Given the description of an element on the screen output the (x, y) to click on. 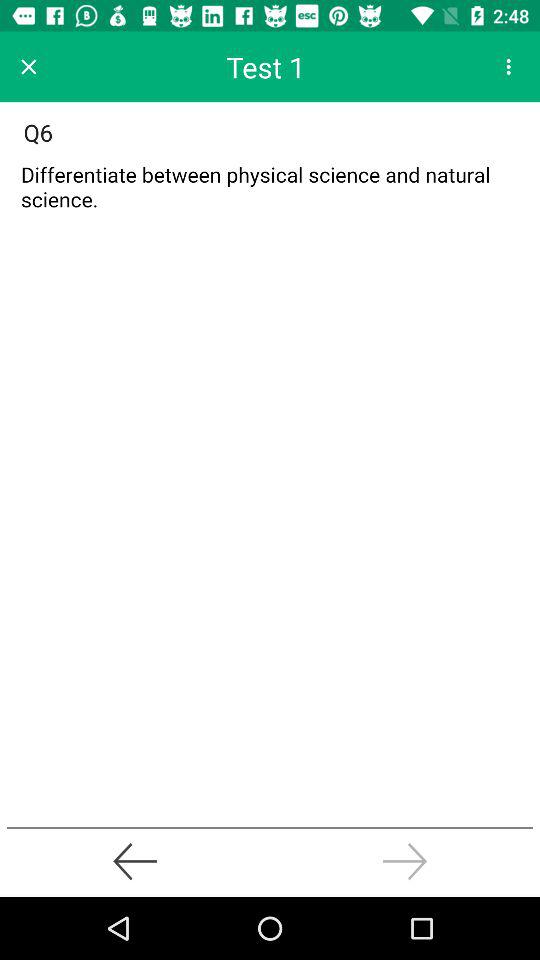
select the add (269, 192)
